Given the description of an element on the screen output the (x, y) to click on. 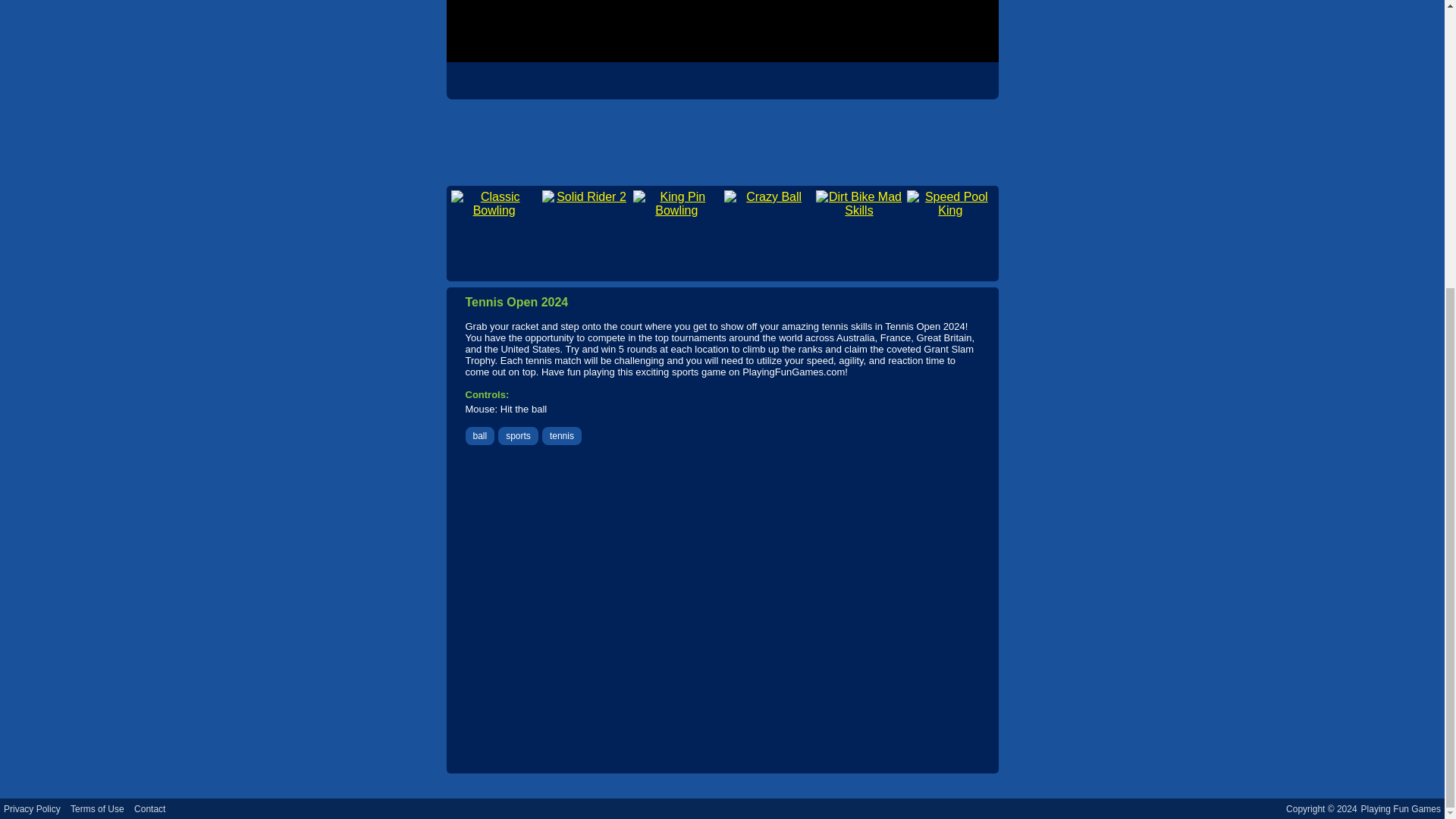
ball (480, 435)
sports (518, 435)
Terms of Use (97, 808)
tennis (561, 435)
Tennis Open 2024 (721, 31)
Contact (149, 808)
Privacy Policy (32, 808)
